Given the description of an element on the screen output the (x, y) to click on. 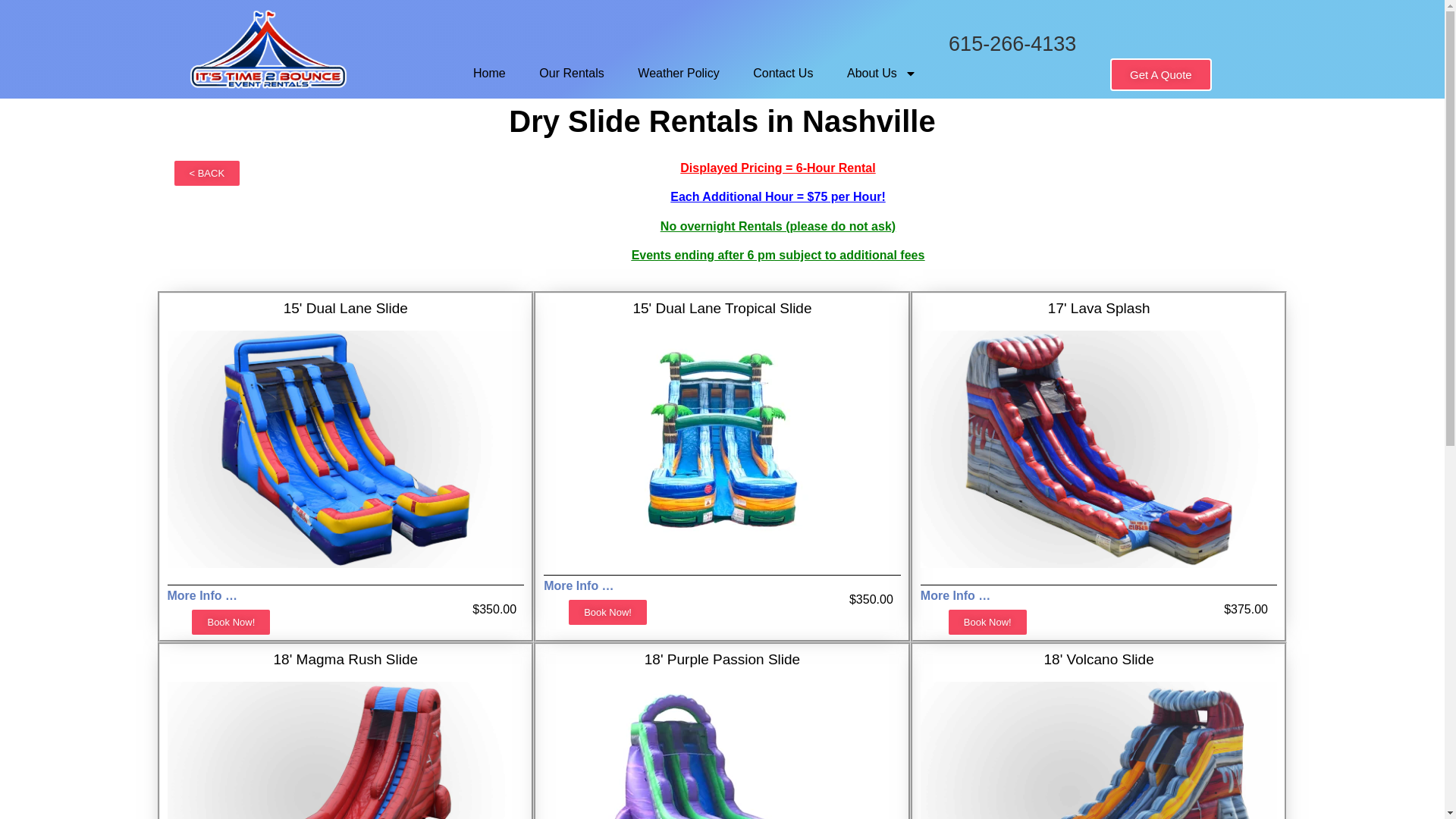
Weather Policy (678, 73)
Get A Quote (1160, 74)
About Us (881, 73)
Home (489, 73)
Book Now! (607, 612)
Contact Us (782, 73)
Our Rentals (571, 73)
Book Now! (230, 622)
Book Now! (987, 622)
